Given the description of an element on the screen output the (x, y) to click on. 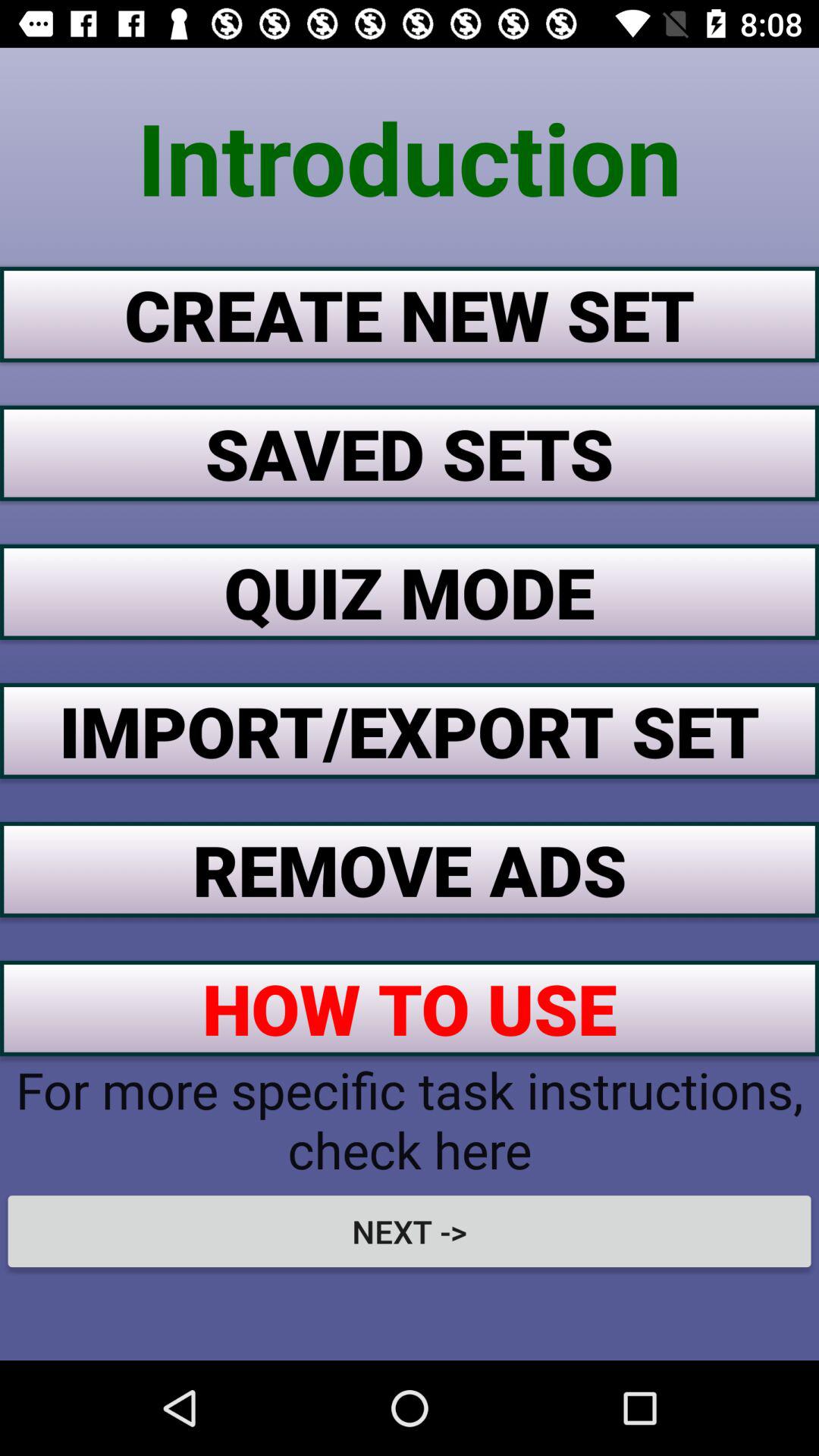
turn on the item above the remove ads (409, 730)
